Given the description of an element on the screen output the (x, y) to click on. 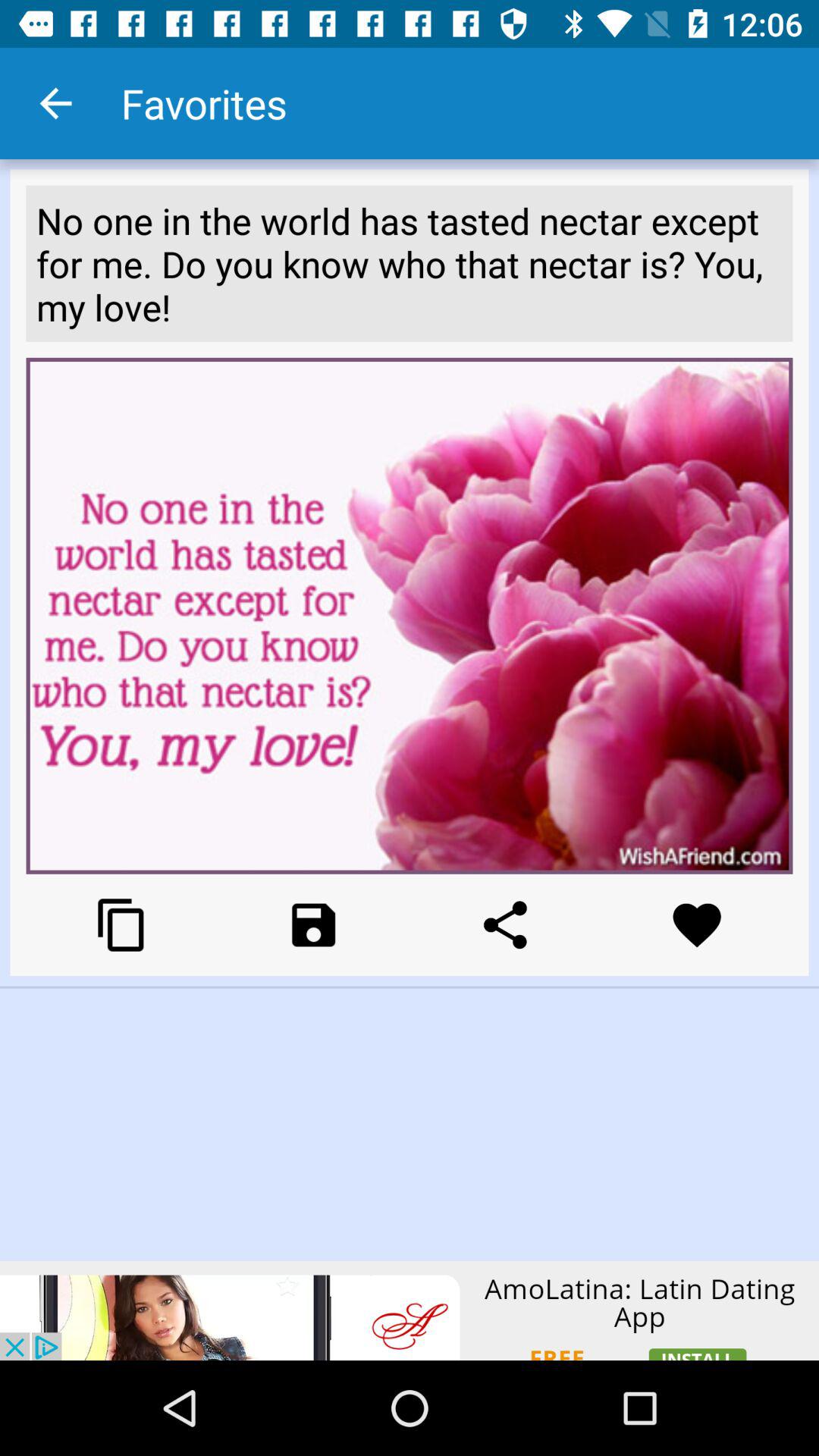
advertisement about latin dating app (409, 1310)
